Given the description of an element on the screen output the (x, y) to click on. 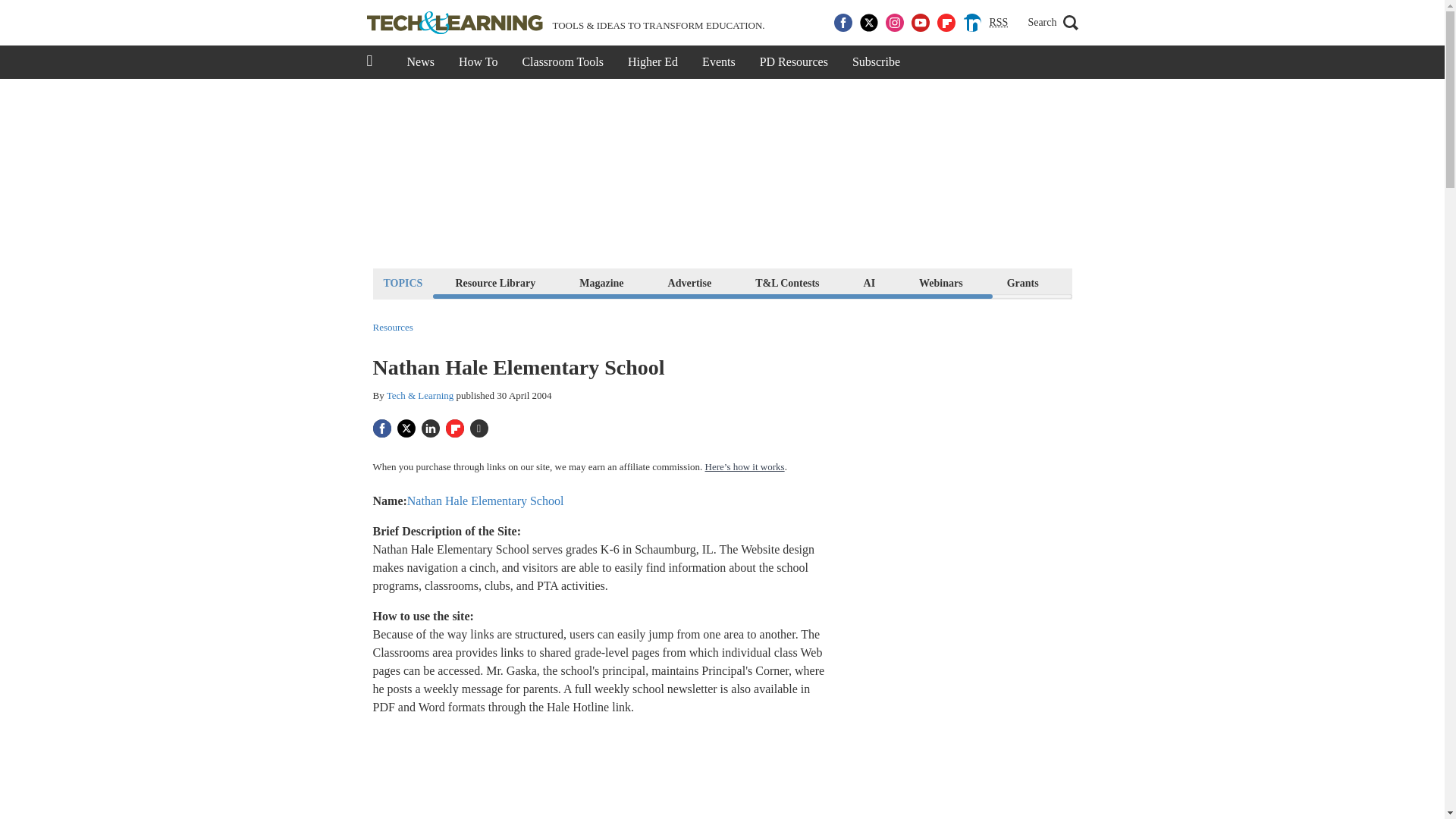
Resources (392, 327)
Subscribe (876, 61)
Resource Library (494, 282)
Higher Ed (652, 61)
News (419, 61)
PD Resources (794, 61)
RSS (997, 22)
Webinars (941, 282)
AI (869, 282)
Classroom Tools (561, 61)
What to Buy (1111, 282)
Events (719, 61)
How To (477, 61)
Advertise (689, 282)
Grants (1022, 282)
